Given the description of an element on the screen output the (x, y) to click on. 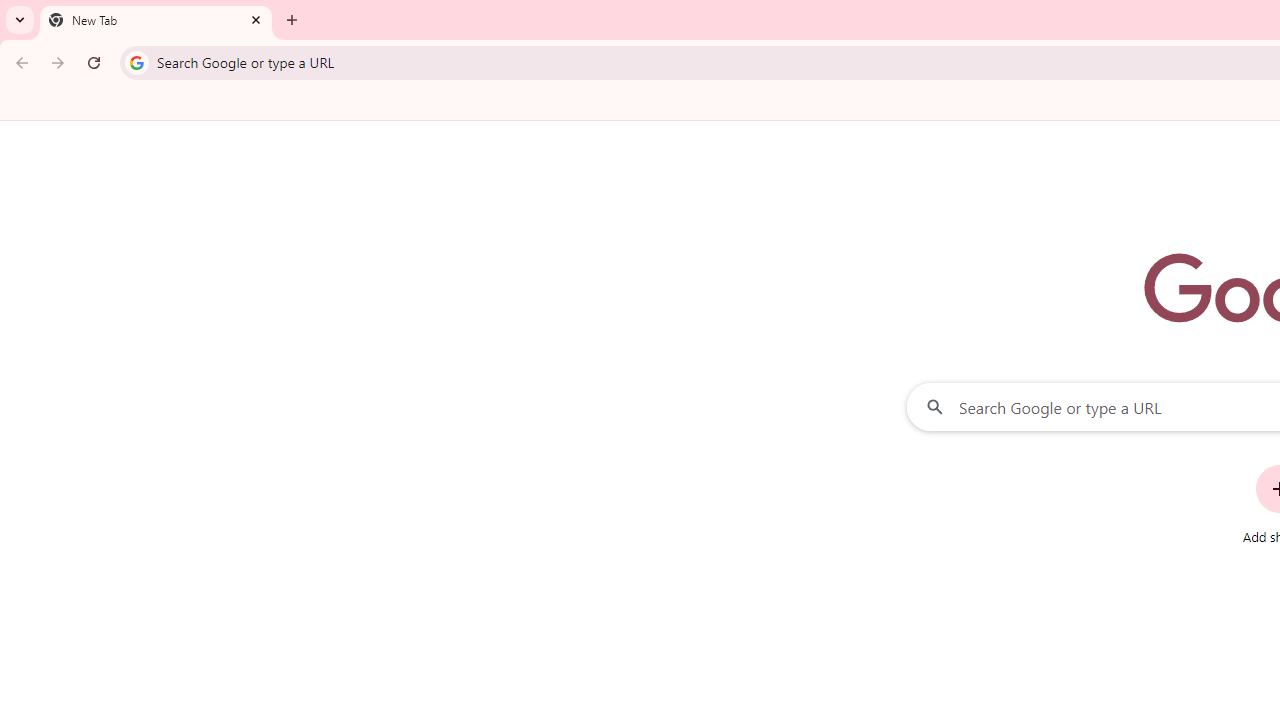
New Tab (156, 20)
